Given the description of an element on the screen output the (x, y) to click on. 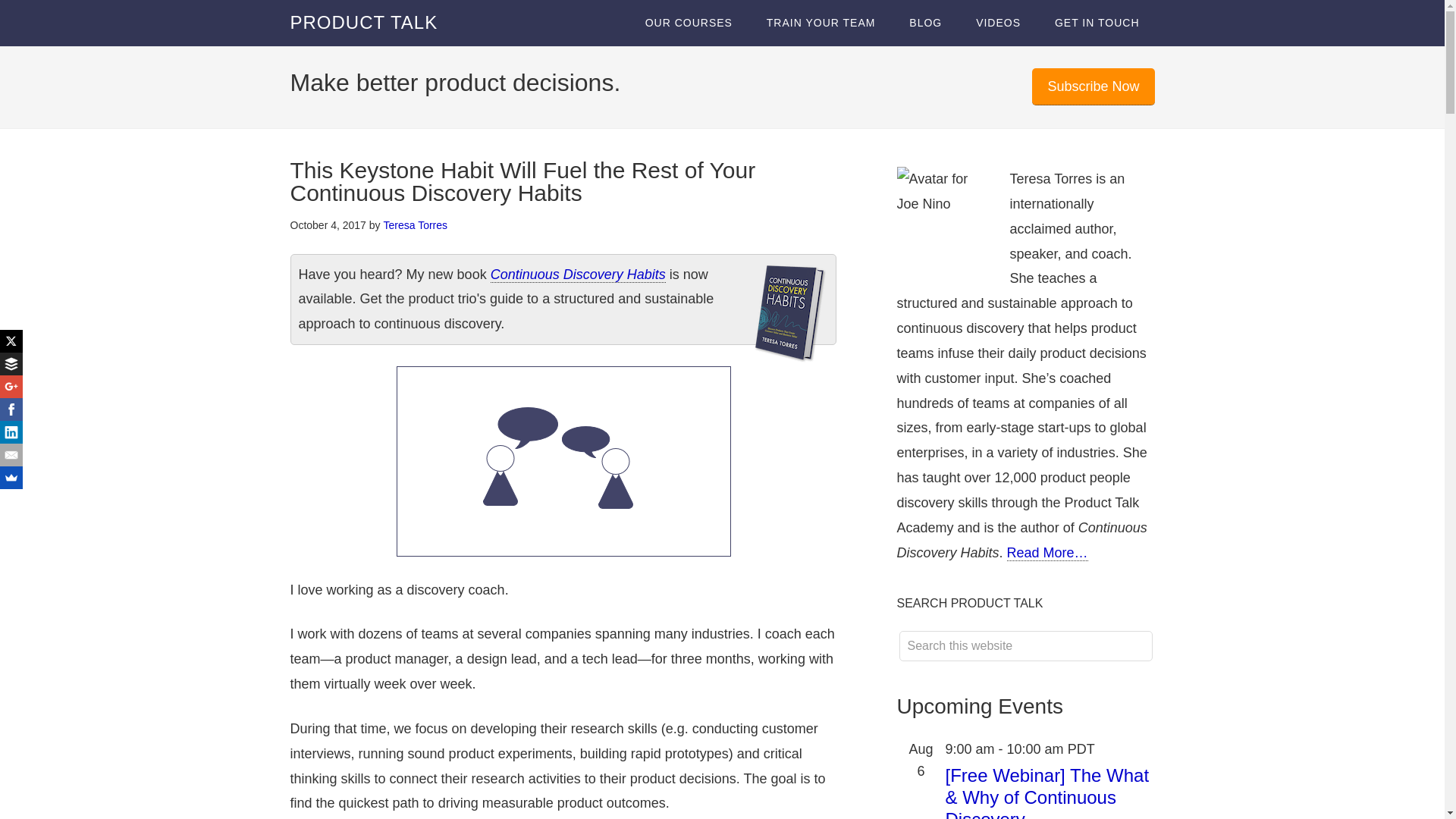
VIDEOS (997, 22)
Continuous Discovery Habits (577, 274)
Subscribe Now (1093, 86)
PRODUCT TALK (363, 22)
OUR COURSES (689, 22)
Teresa Torres (414, 224)
TRAIN YOUR TEAM (821, 22)
GET IN TOUCH (1096, 22)
BLOG (924, 22)
